Given the description of an element on the screen output the (x, y) to click on. 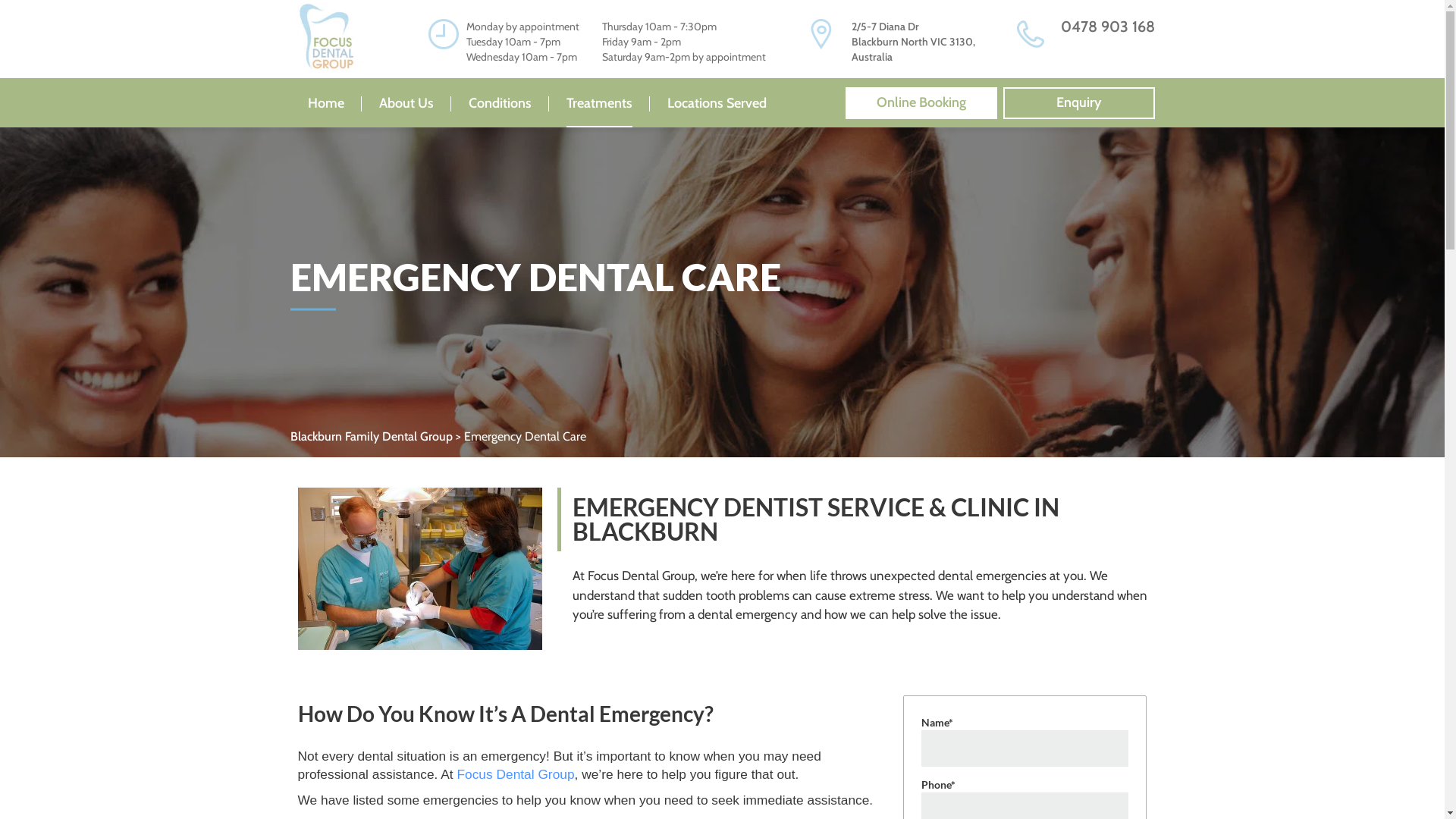
0478 903 168 Element type: text (1107, 26)
About Us Element type: text (406, 103)
Home Element type: text (325, 103)
Blackburn Family Dental Group Element type: text (370, 436)
Locations Served Element type: text (716, 103)
2/5-7 Diana Dr
Blackburn North VIC 3130,
Australia Element type: text (912, 41)
Treatments Element type: text (598, 103)
Enquiry Element type: text (1078, 103)
Conditions Element type: text (499, 103)
Online Booking Element type: text (920, 103)
Focus Dental Group Element type: text (515, 773)
